Given the description of an element on the screen output the (x, y) to click on. 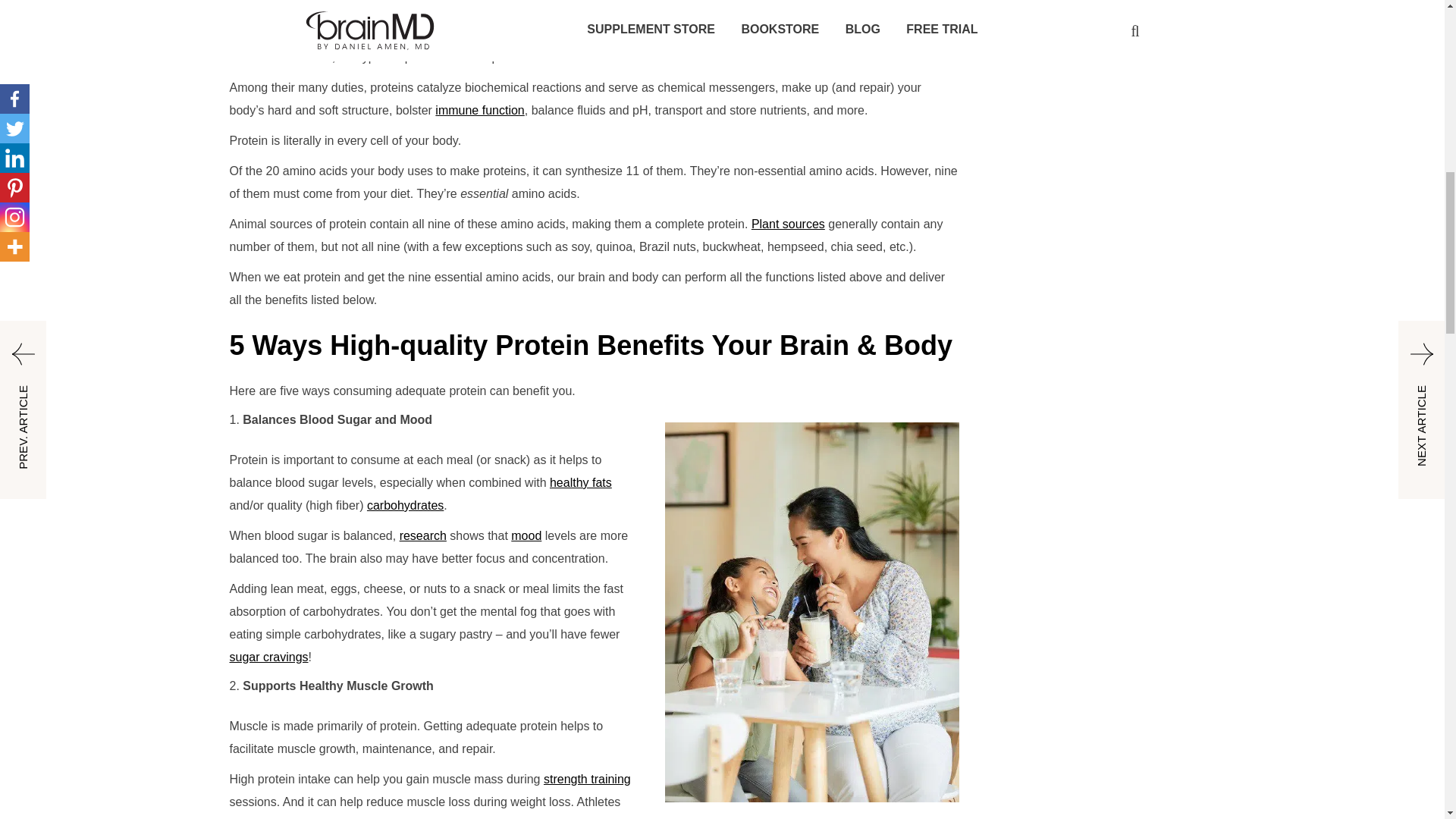
immune function (479, 110)
Plant sources (788, 223)
carbohydrates (405, 504)
healthy fats (580, 481)
research (422, 535)
strength training (586, 779)
sugar cravings (267, 656)
mood (526, 535)
